Given the description of an element on the screen output the (x, y) to click on. 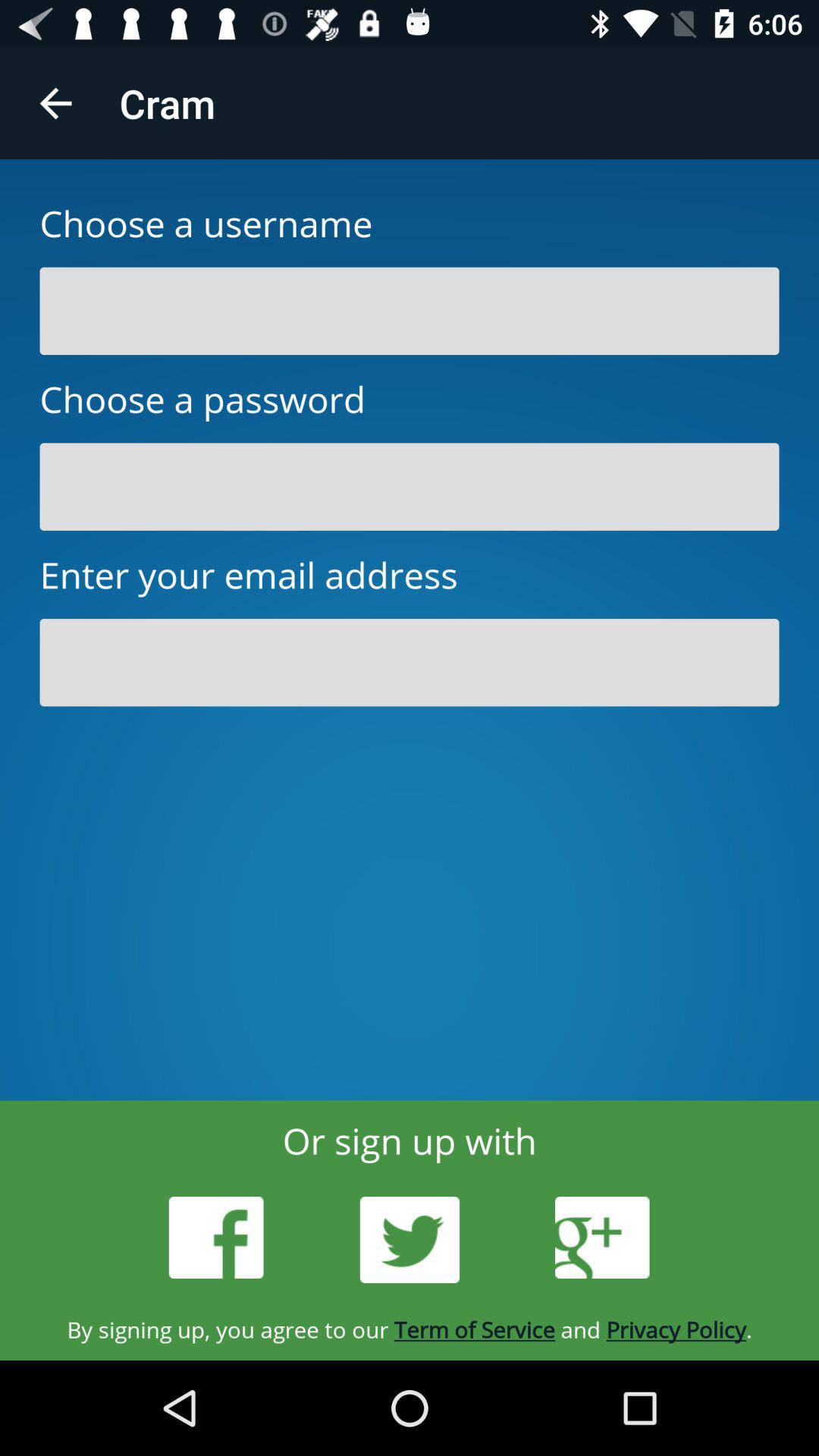
enter password (409, 486)
